Given the description of an element on the screen output the (x, y) to click on. 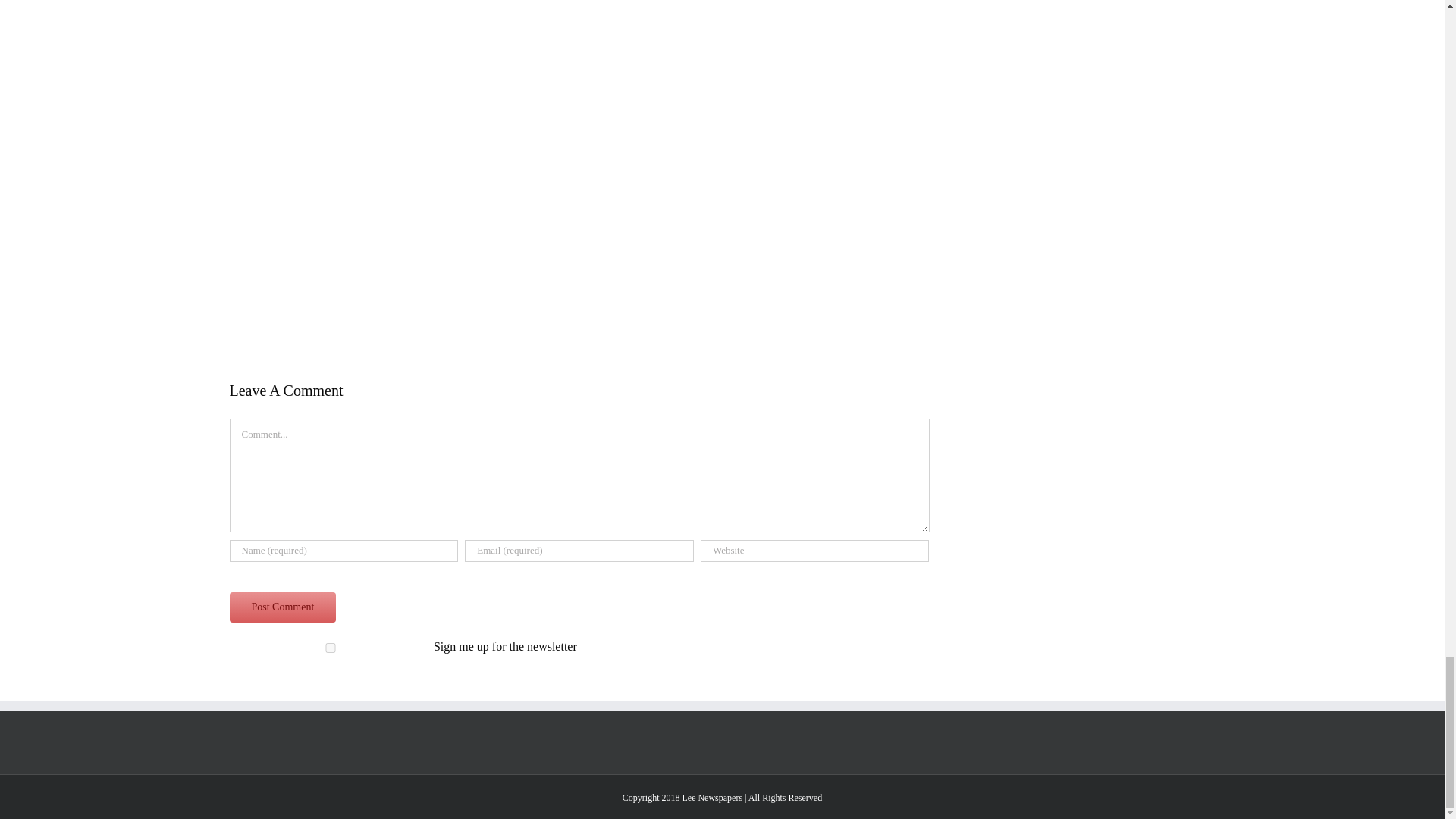
1 (329, 647)
Post Comment (282, 607)
